Given the description of an element on the screen output the (x, y) to click on. 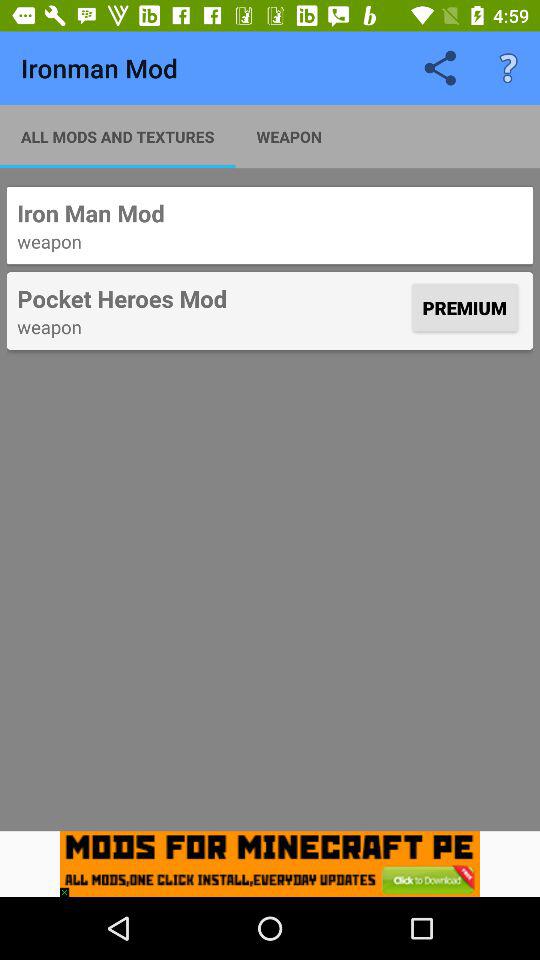
turn on iron man mod (269, 213)
